Given the description of an element on the screen output the (x, y) to click on. 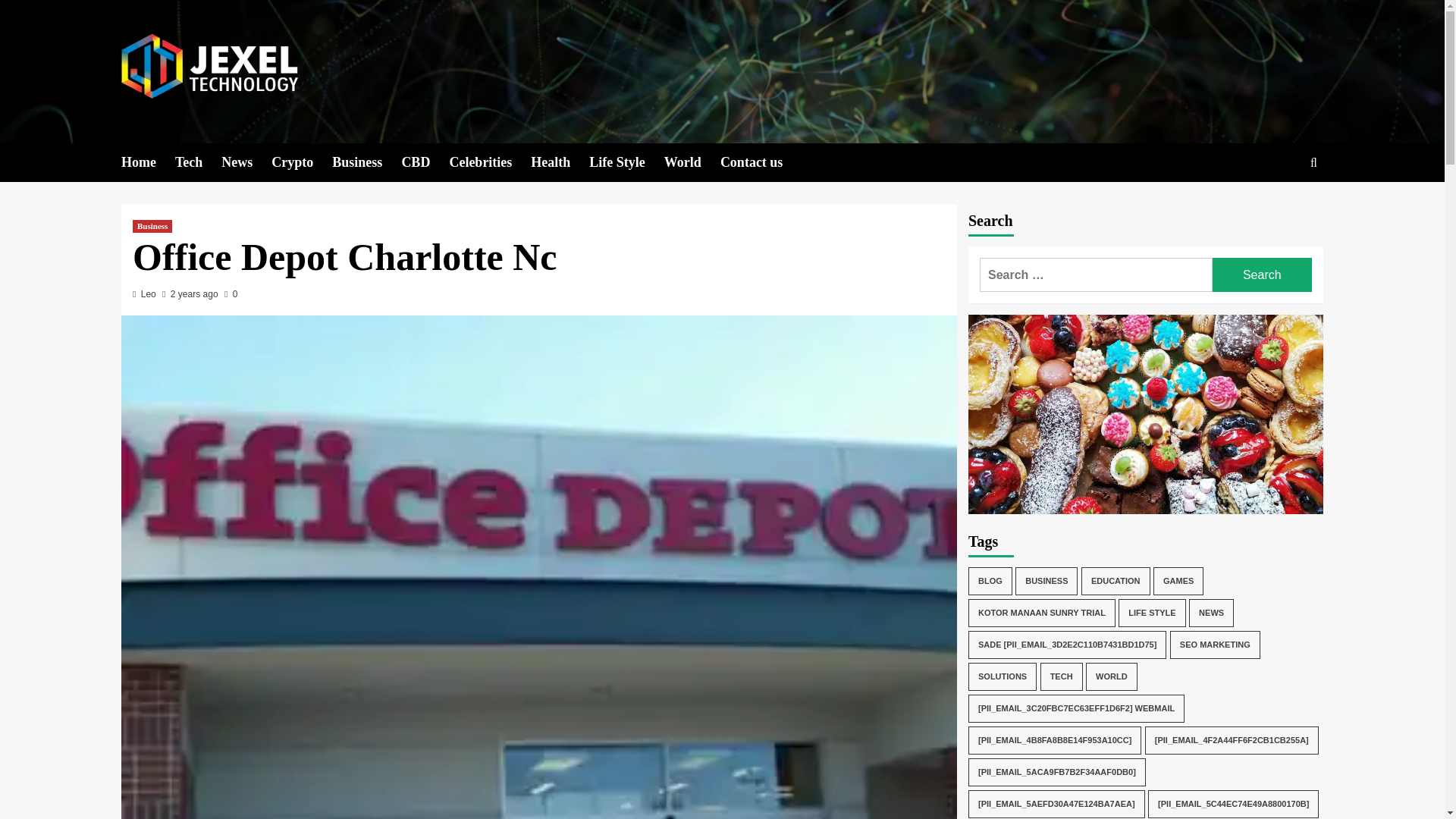
Crypto (300, 162)
Business (151, 226)
2 years ago (194, 294)
Search (1261, 274)
World (691, 162)
News (245, 162)
Life Style (626, 162)
Business (366, 162)
Leo (148, 294)
0 (230, 294)
Home (147, 162)
Search (1278, 209)
Tech (197, 162)
Health (560, 162)
Celebrities (489, 162)
